Given the description of an element on the screen output the (x, y) to click on. 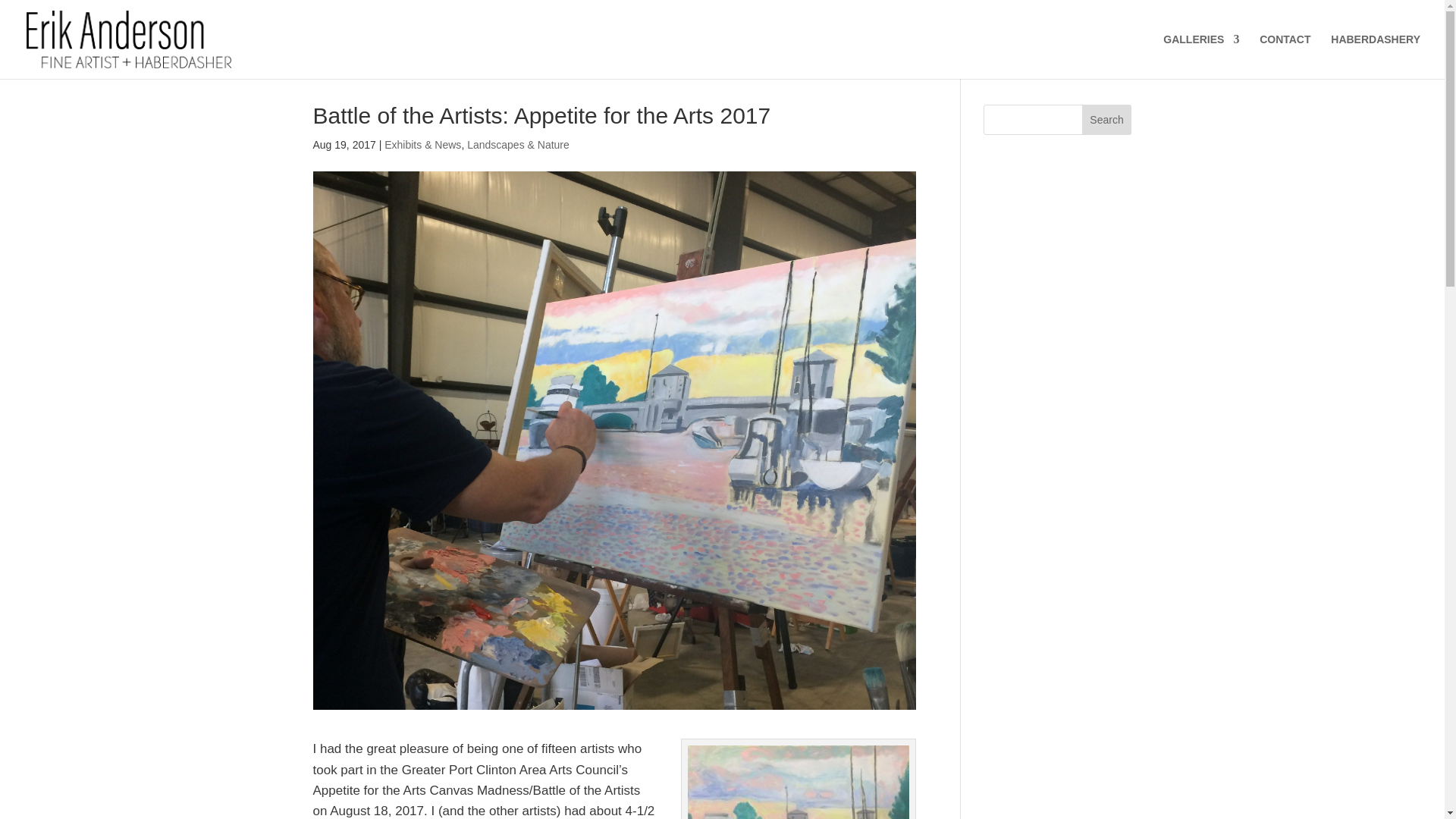
HABERDASHERY (1375, 56)
Search (1106, 119)
CONTACT (1284, 56)
GALLERIES (1201, 56)
